Given the description of an element on the screen output the (x, y) to click on. 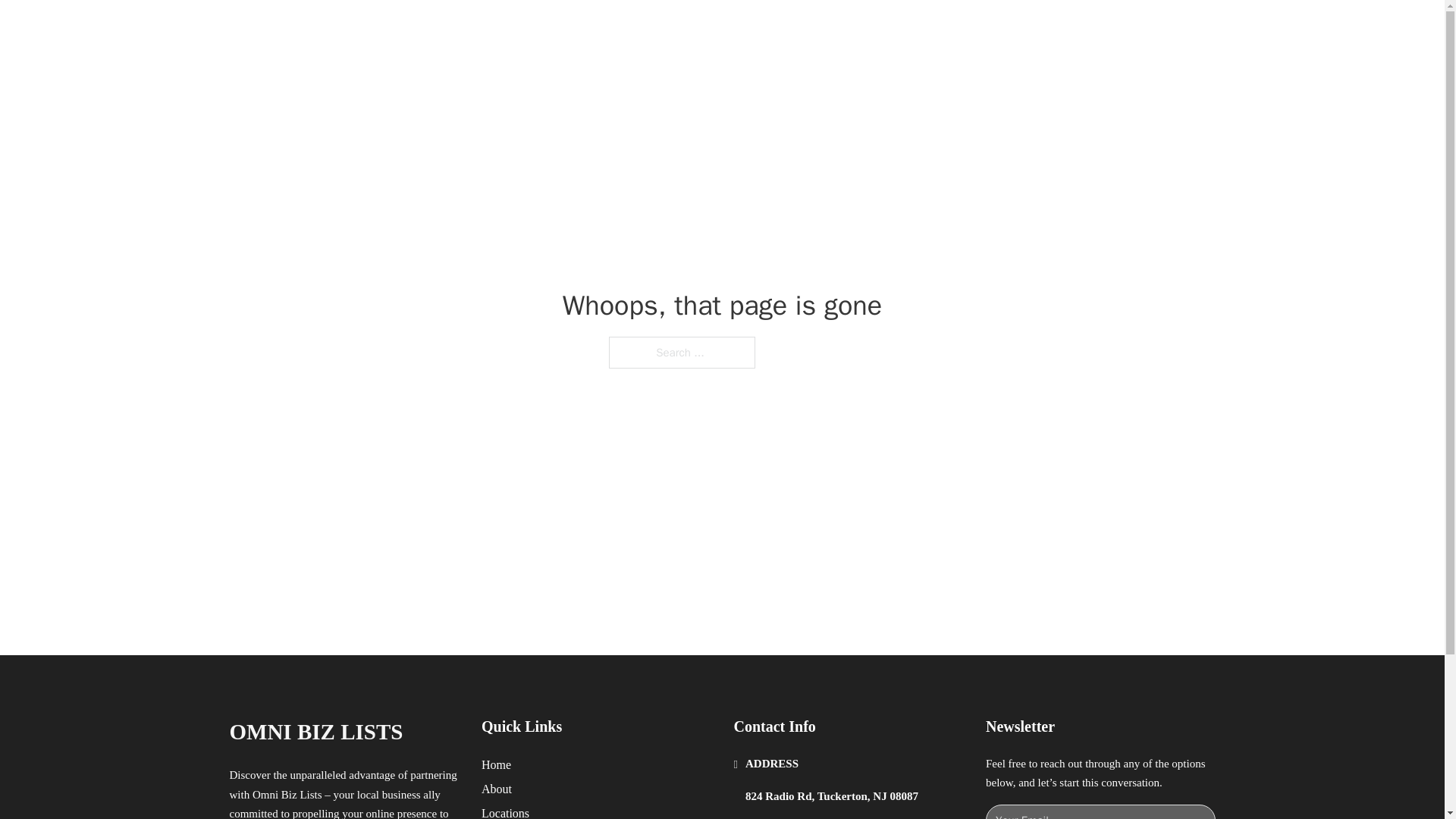
OMNI BIZ LISTS (315, 732)
Home (496, 764)
LOCATIONS (990, 29)
Locations (505, 811)
About (496, 788)
HOME (919, 29)
OMNI BIZ LISTS (390, 28)
